Given the description of an element on the screen output the (x, y) to click on. 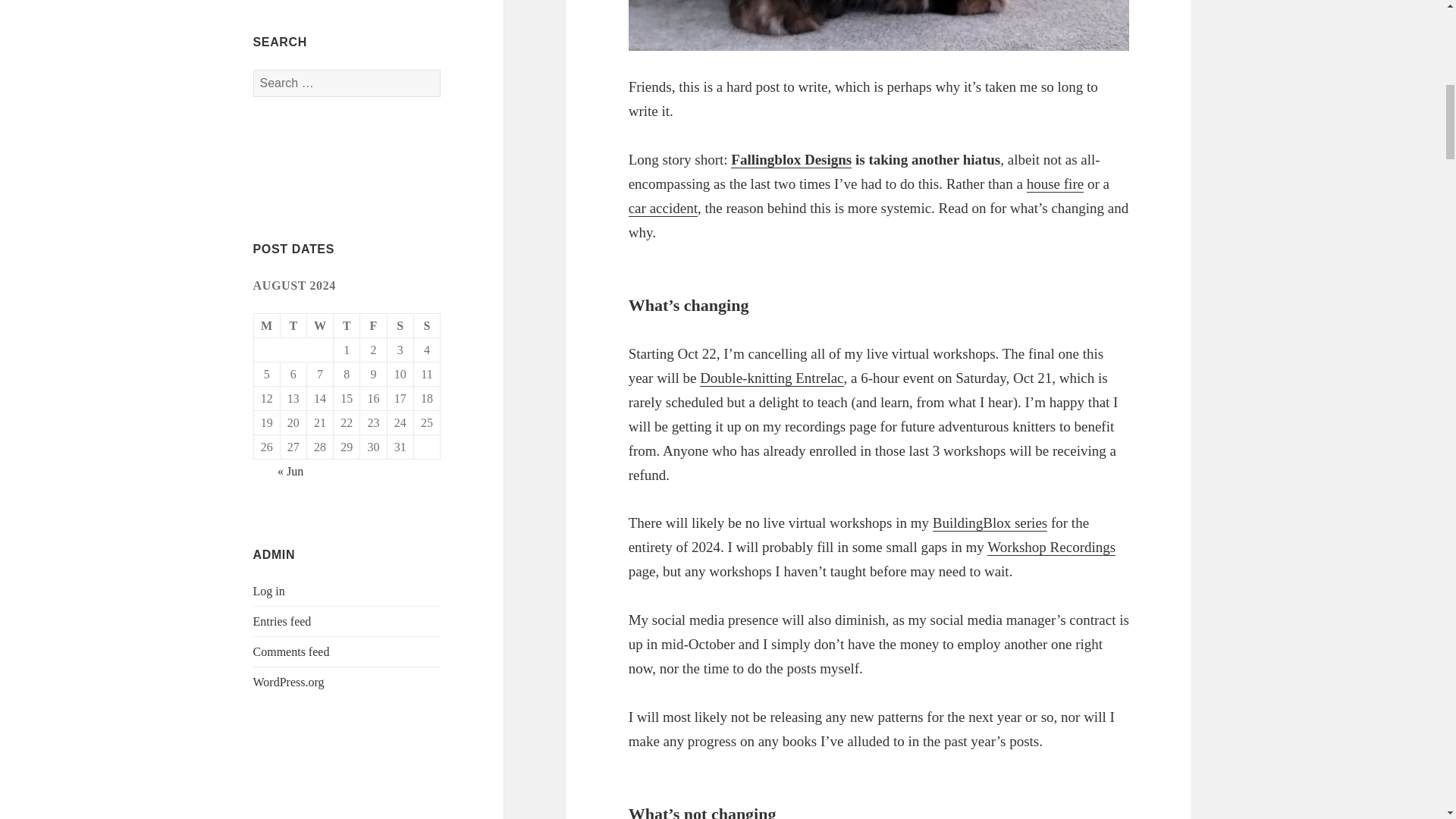
Fallingblox Designs (790, 159)
Workshop Recordings (1051, 547)
Monday (267, 325)
Saturday (400, 325)
WordPress.org (288, 681)
BuildingBlox series (989, 523)
Tuesday (294, 325)
Wednesday (320, 325)
